Given the description of an element on the screen output the (x, y) to click on. 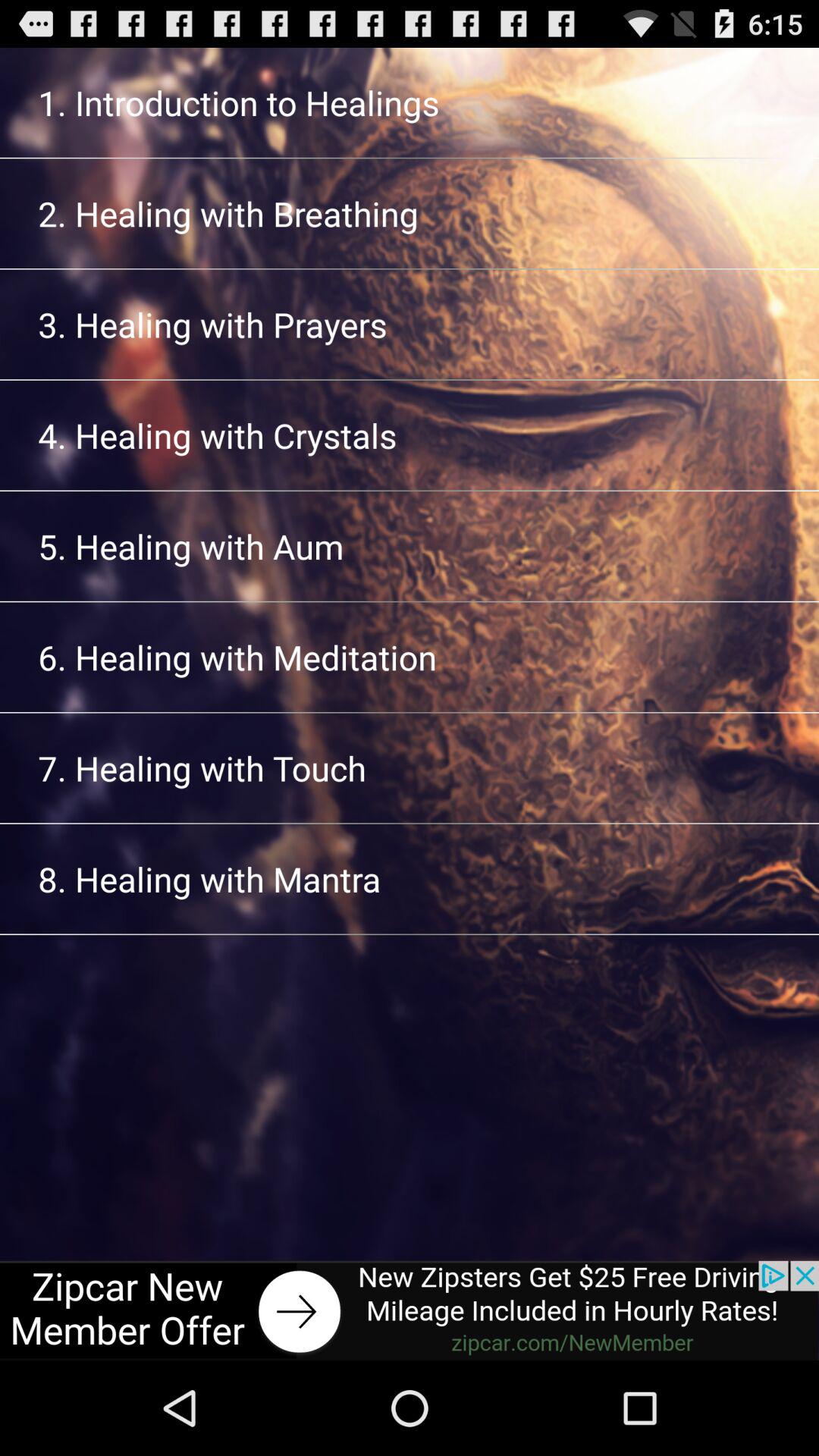
bottom advertisement (409, 1310)
